Given the description of an element on the screen output the (x, y) to click on. 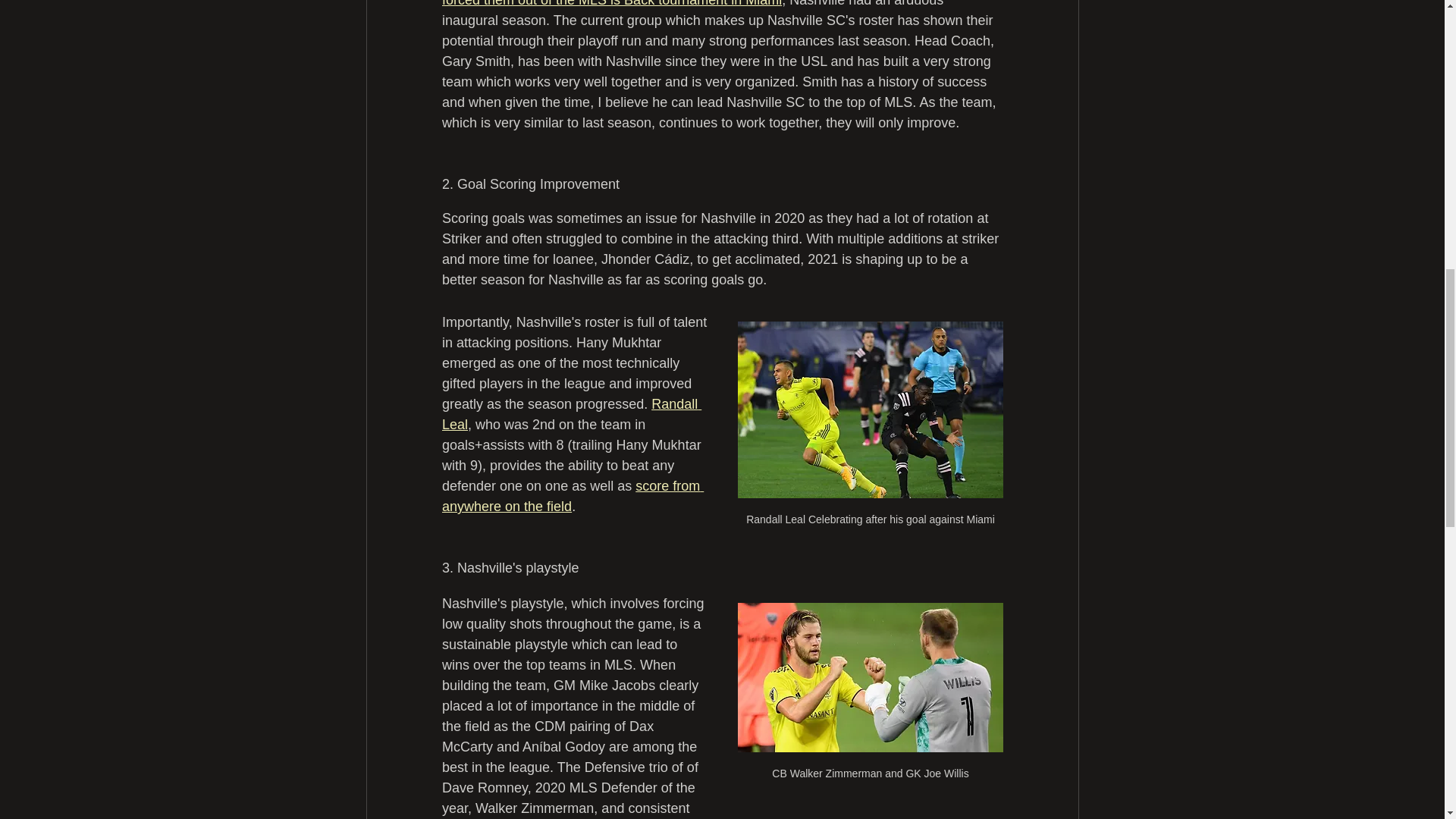
CB Walker Zimmerman and GK Joe Willis (869, 698)
Randall Leal Celebrating after his goal against Miami (869, 431)
Randall Leal (570, 414)
score from anywhere on the field (572, 496)
